Given the description of an element on the screen output the (x, y) to click on. 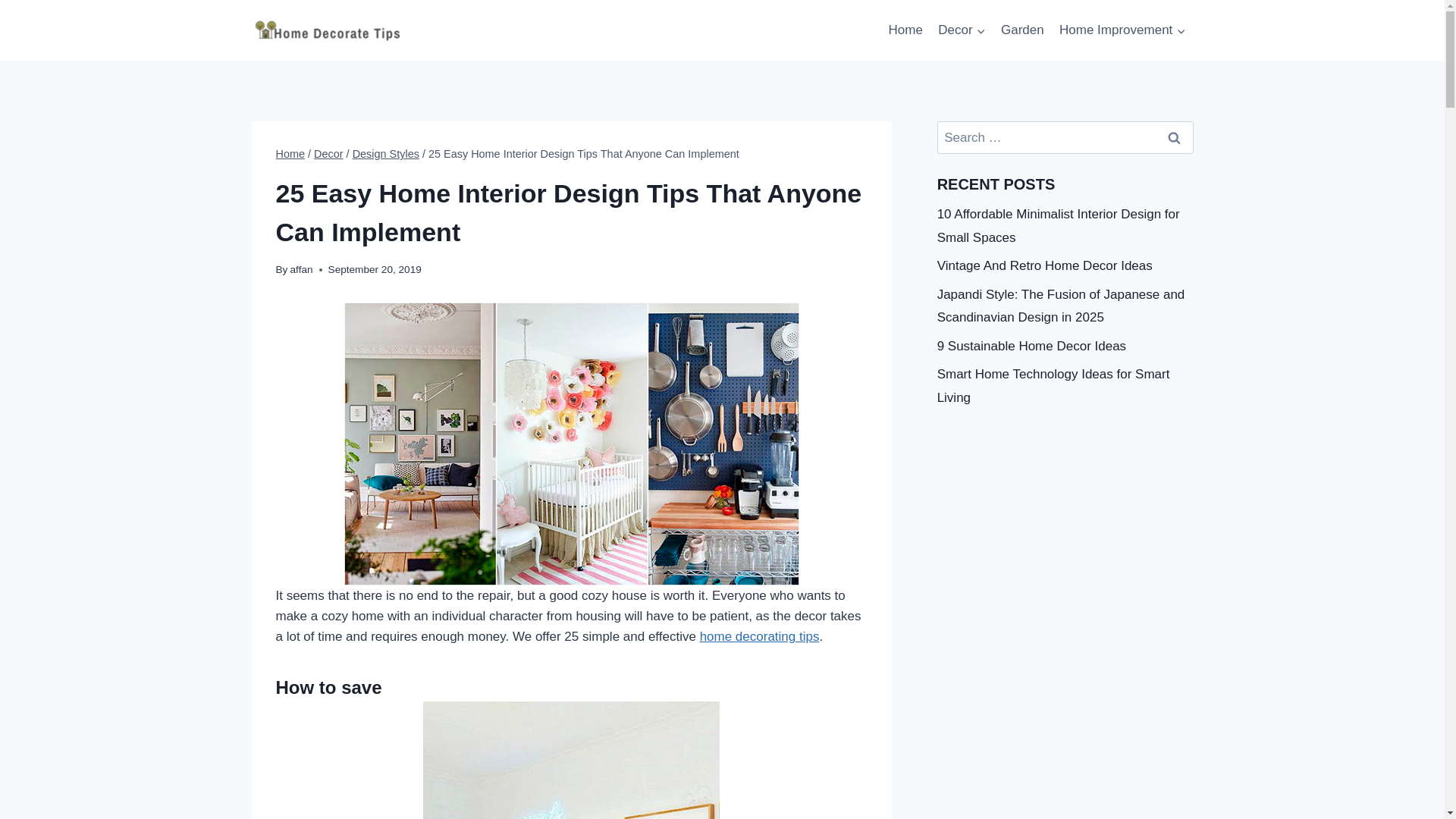
Home (290, 153)
home decorating tips (759, 636)
Search (1174, 137)
Design Styles (385, 153)
Decor (328, 153)
Search (1174, 137)
Home Improvement (1122, 30)
Home (905, 30)
Home (905, 30)
Garden (1021, 30)
